Given the description of an element on the screen output the (x, y) to click on. 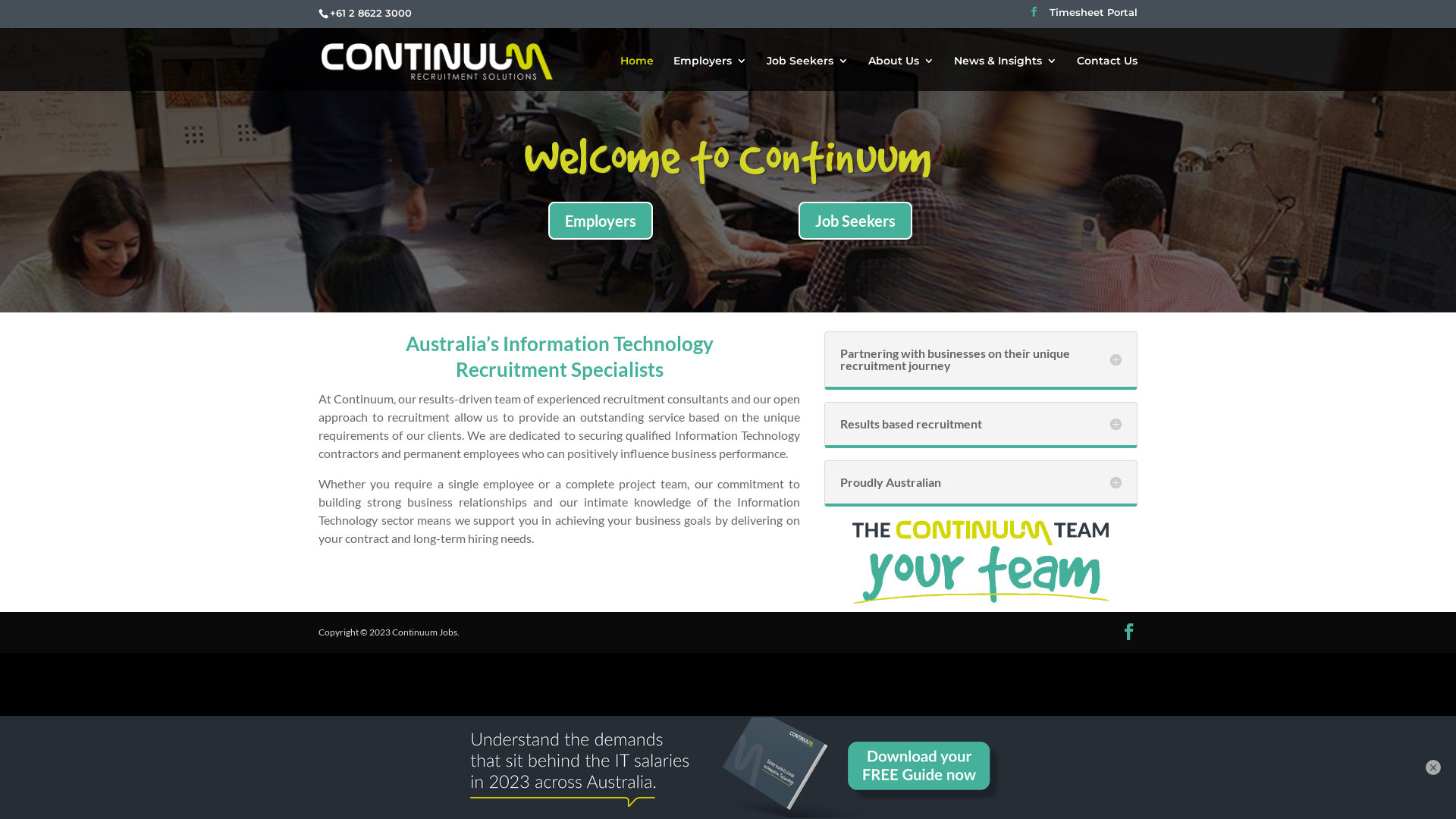
Contact Us Element type: text (1106, 73)
About Us Element type: text (901, 73)
Employers Element type: text (600, 220)
Home Element type: text (636, 73)
News & Insights Element type: text (1005, 73)
Employers Element type: text (709, 73)
Job Seekers Element type: text (855, 220)
Continuum Tagline 2023_Stacked_Dark Text Element type: hover (980, 560)
+61 2 8622 3000 Element type: text (370, 12)
Job Seekers Element type: text (807, 73)
Timesheet Portal Element type: text (1093, 16)
